Given the description of an element on the screen output the (x, y) to click on. 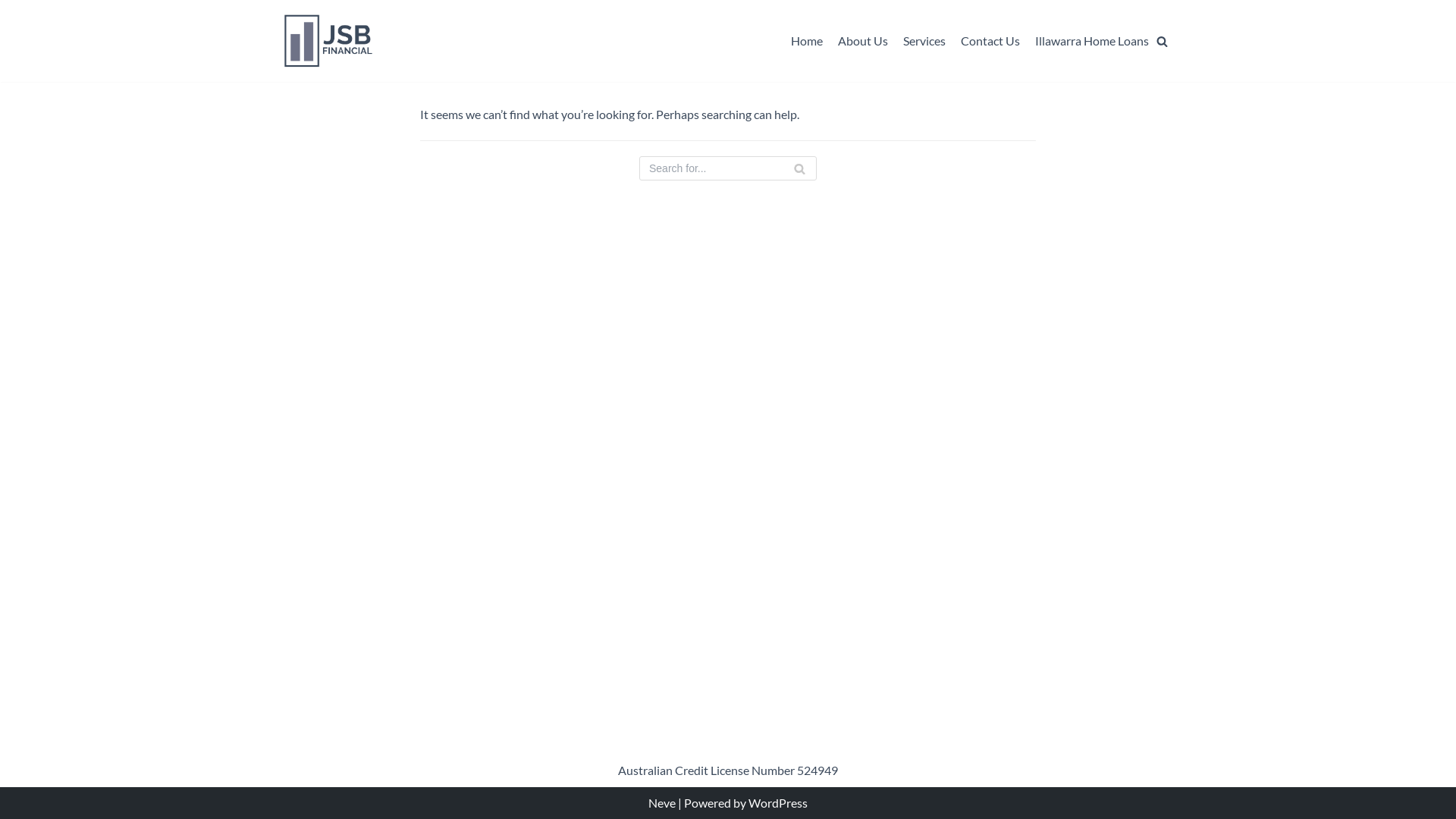
Services Element type: text (924, 40)
Home Element type: text (806, 40)
Skip to content Element type: text (15, 31)
About Us Element type: text (862, 40)
WordPress Element type: text (777, 802)
Search Element type: text (1135, 70)
Neve Element type: text (661, 802)
Illawarra Home Loans Element type: text (1091, 40)
JSB Financial Element type: hover (328, 40)
Contact Us Element type: text (989, 40)
